Given the description of an element on the screen output the (x, y) to click on. 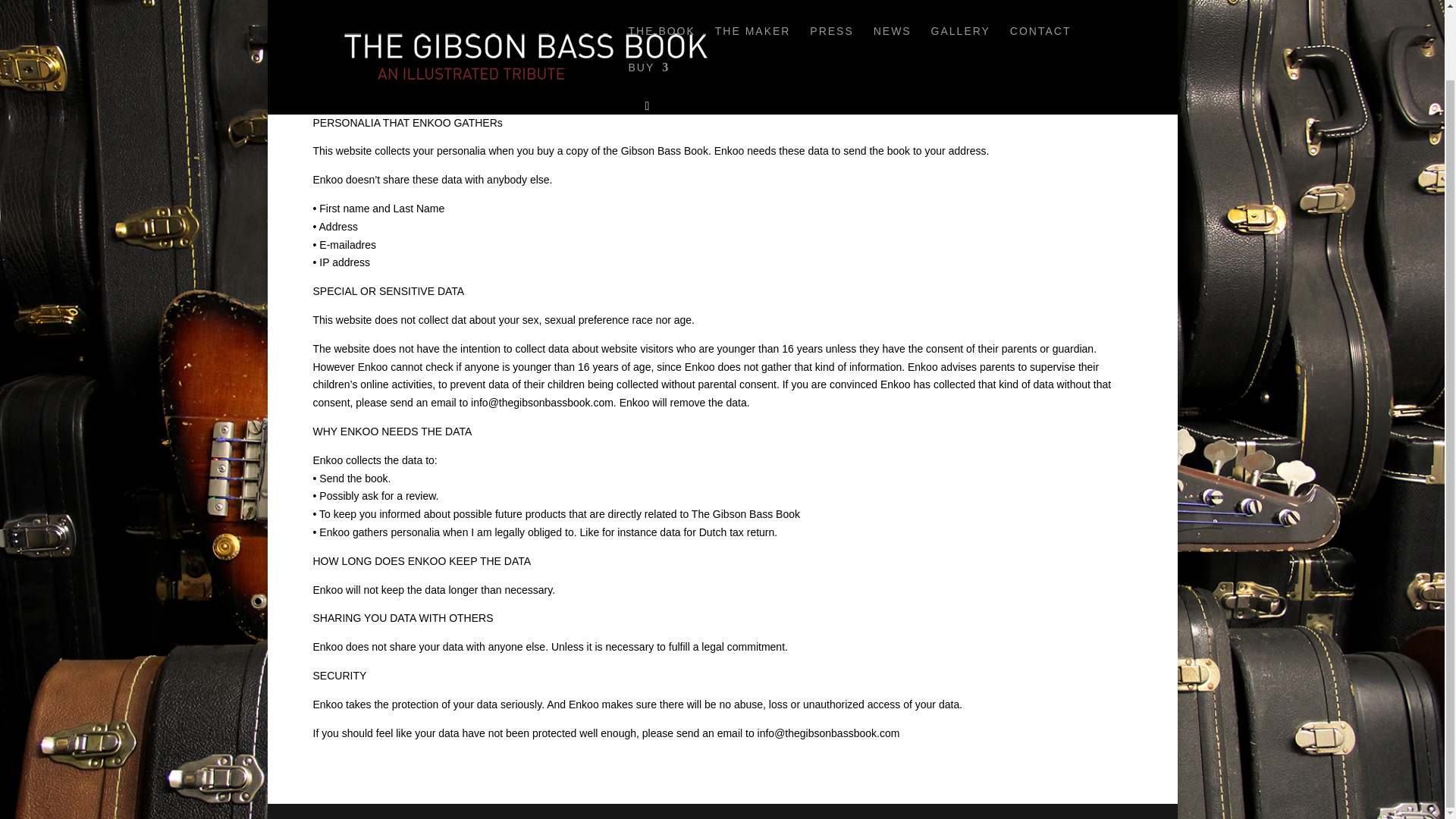
BUY (648, 10)
